Given the description of an element on the screen output the (x, y) to click on. 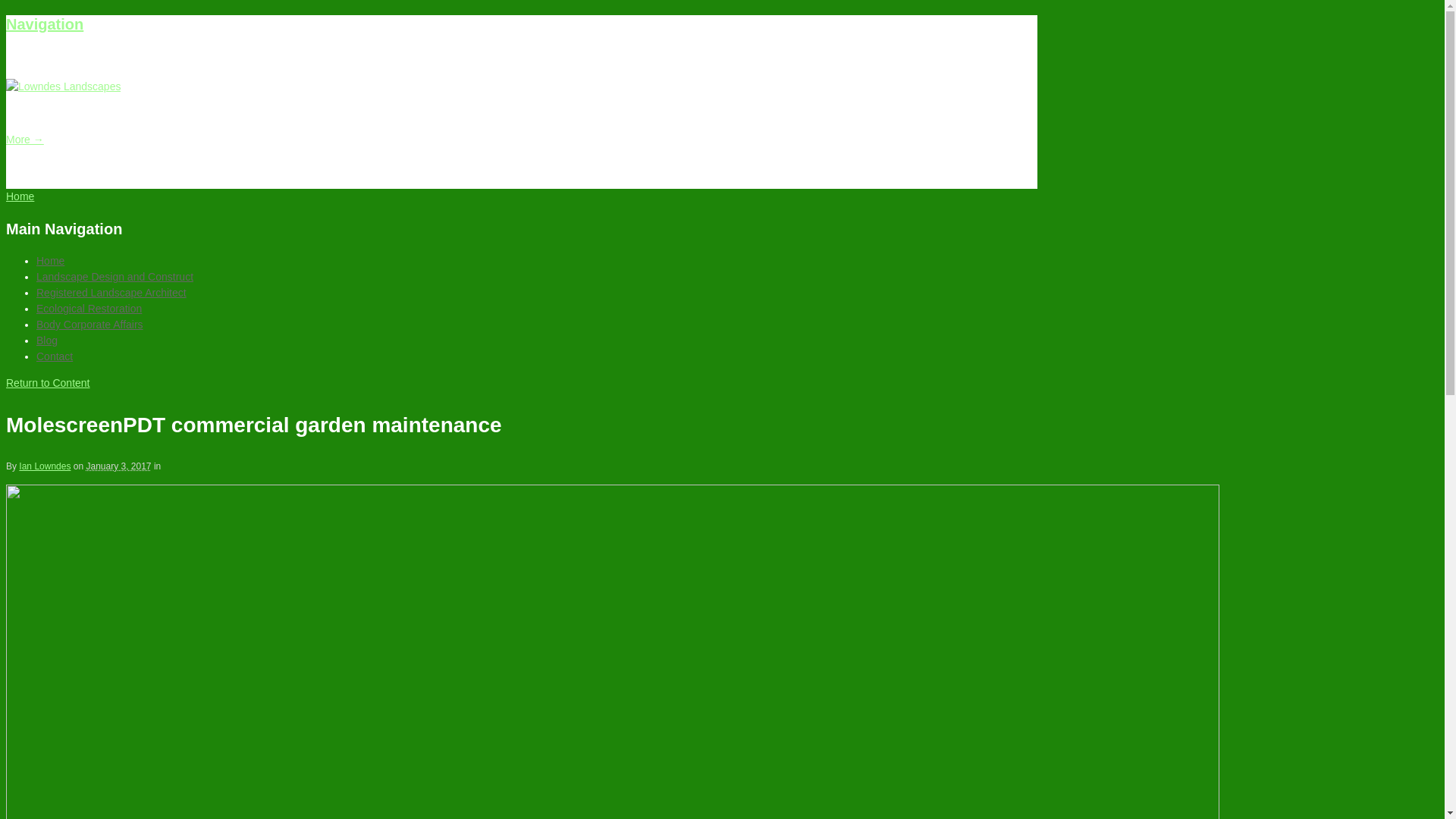
Return to Content Element type: text (48, 382)
Contact Element type: text (54, 356)
Ecological Restoration Element type: text (88, 308)
Registered Landscape Architect Element type: text (111, 292)
Blog Element type: text (46, 340)
Body Corporate Affairs Element type: text (89, 324)
Home Element type: text (50, 260)
Landscape Design and Construct Element type: text (114, 276)
Home Element type: text (20, 196)
Navigation Element type: text (44, 23)
Ian Lowndes Element type: text (44, 466)
